Given the description of an element on the screen output the (x, y) to click on. 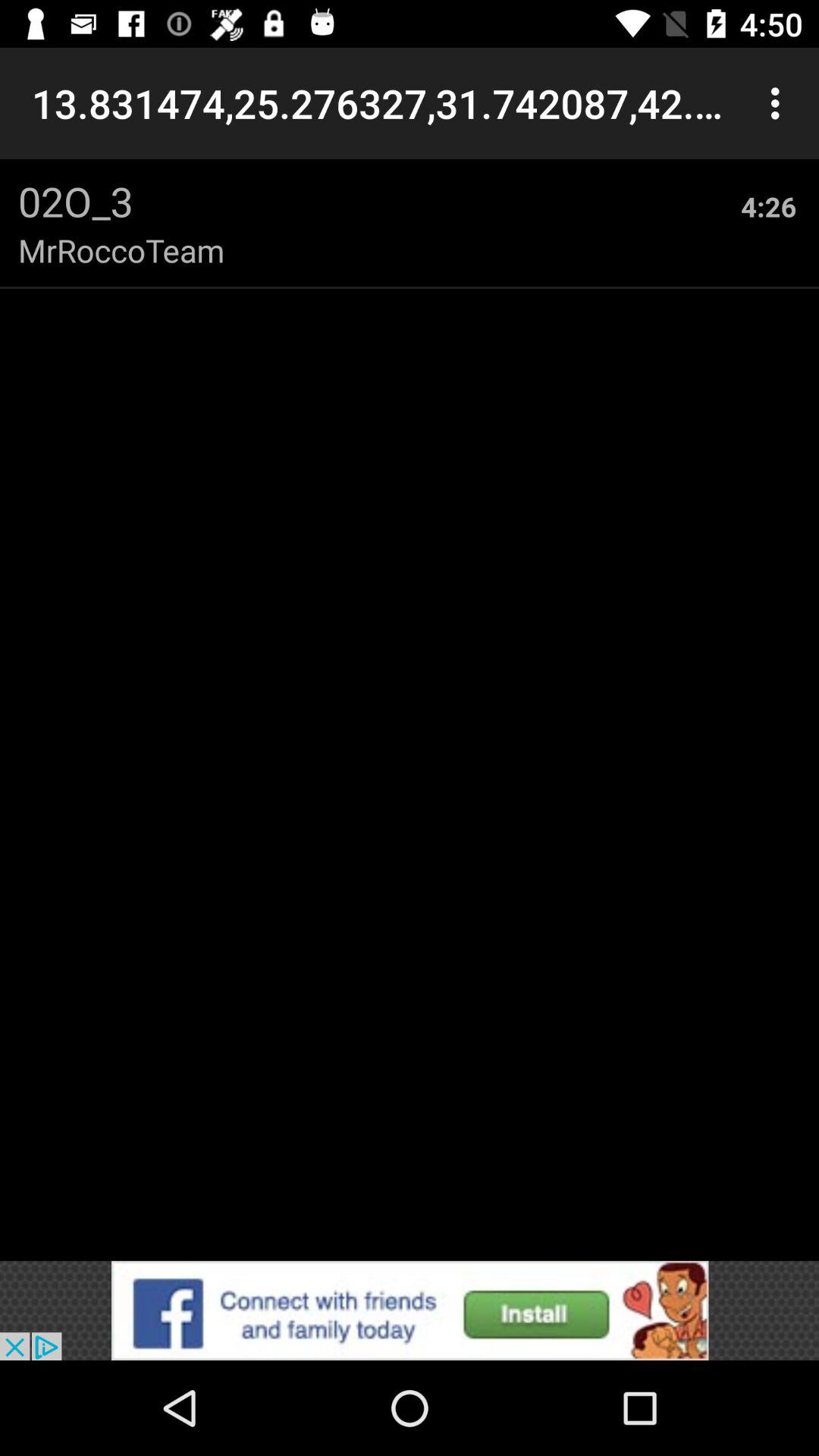
advertisement (409, 1310)
